Given the description of an element on the screen output the (x, y) to click on. 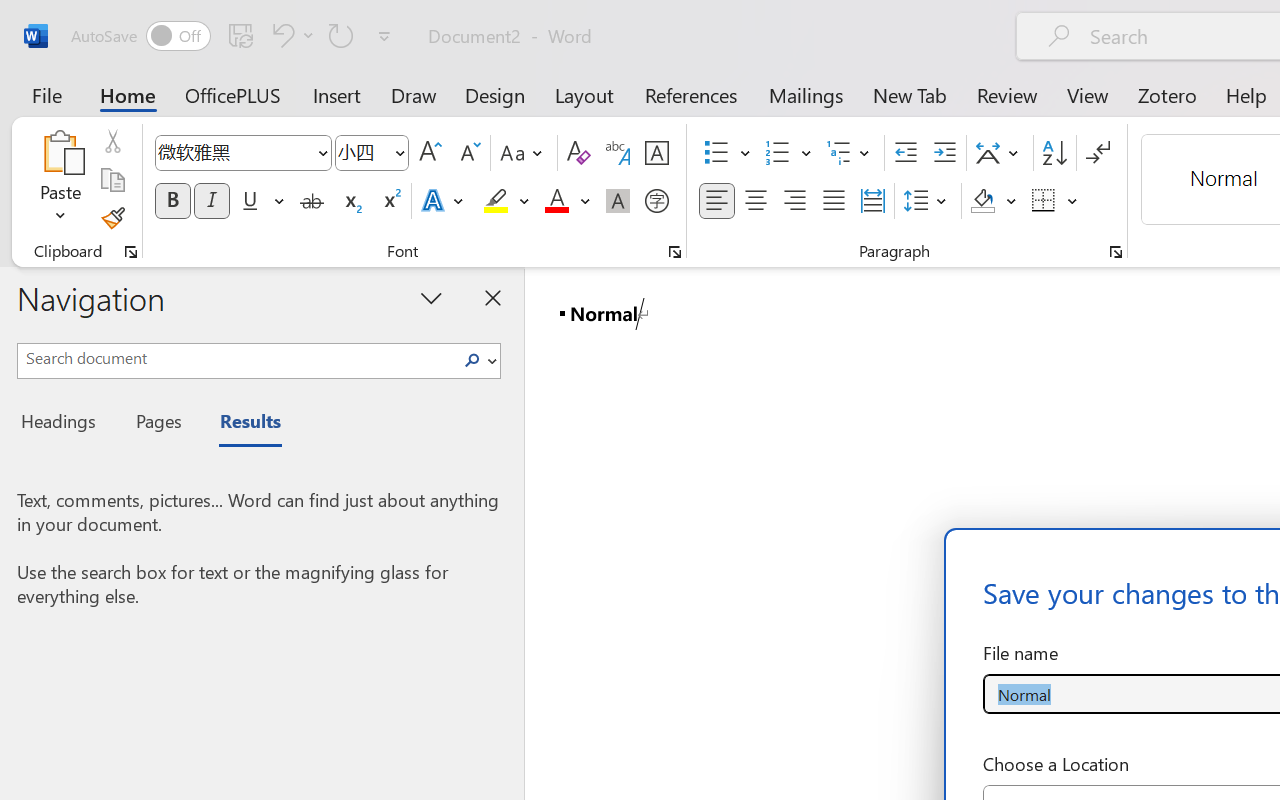
Class: NetUIImage (471, 360)
Font (242, 153)
Multilevel List (850, 153)
Numbering (778, 153)
Paragraph... (1115, 252)
Search document (236, 358)
Customize Quick Access Toolbar (384, 35)
Font (234, 152)
Increase Indent (944, 153)
Search (471, 360)
